Given the description of an element on the screen output the (x, y) to click on. 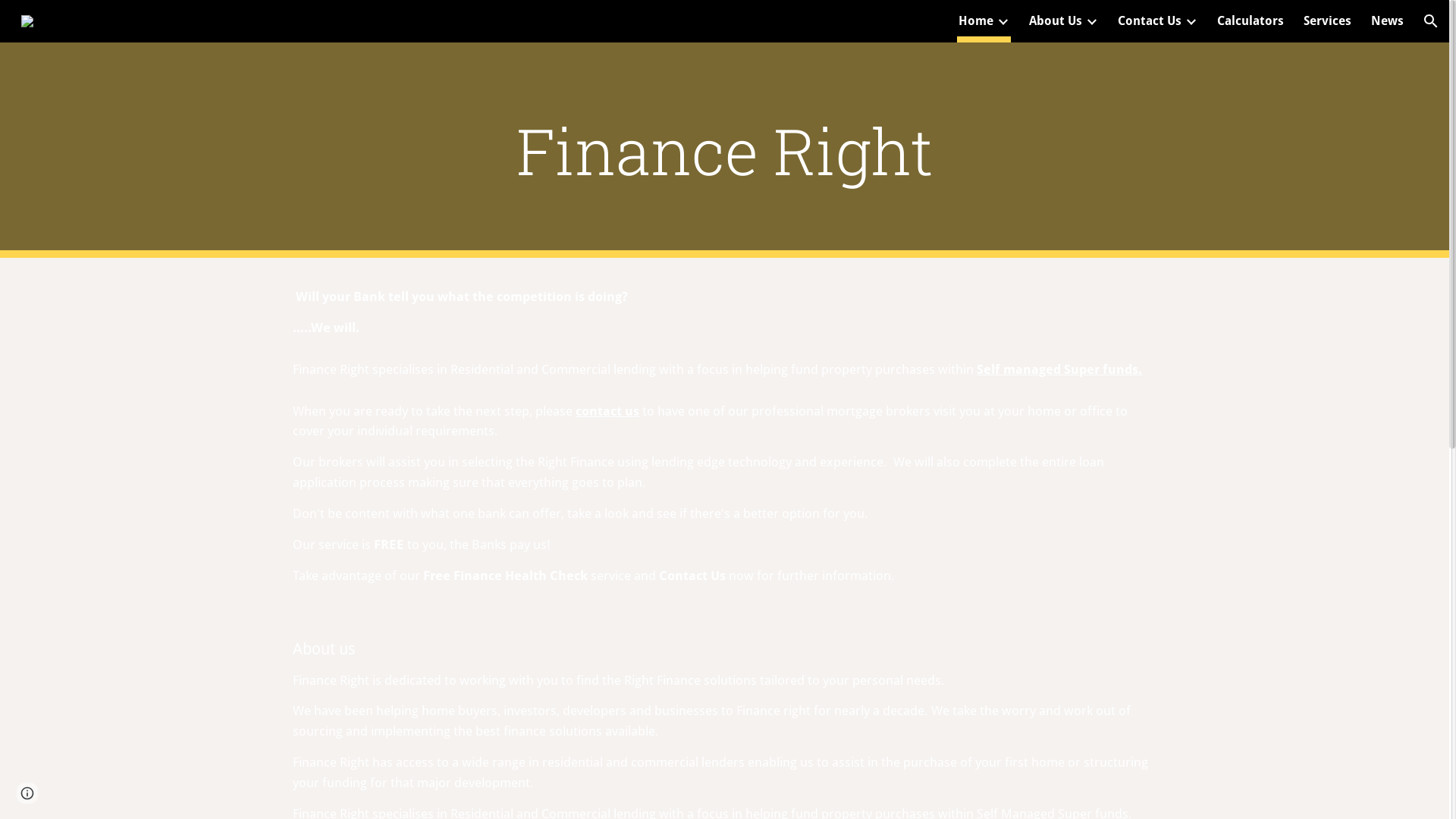
Calculators Element type: text (1250, 20)
Expand/Collapse Element type: hover (1091, 20)
contact us Element type: text (607, 410)
About Us Element type: text (1055, 20)
Expand/Collapse Element type: hover (1002, 20)
Services Element type: text (1327, 20)
Self managed Super funds. Element type: text (1059, 368)
Expand/Collapse Element type: hover (1190, 20)
Home Element type: text (975, 20)
Contact Us Element type: text (1149, 20)
News Element type: text (1387, 20)
